Given the description of an element on the screen output the (x, y) to click on. 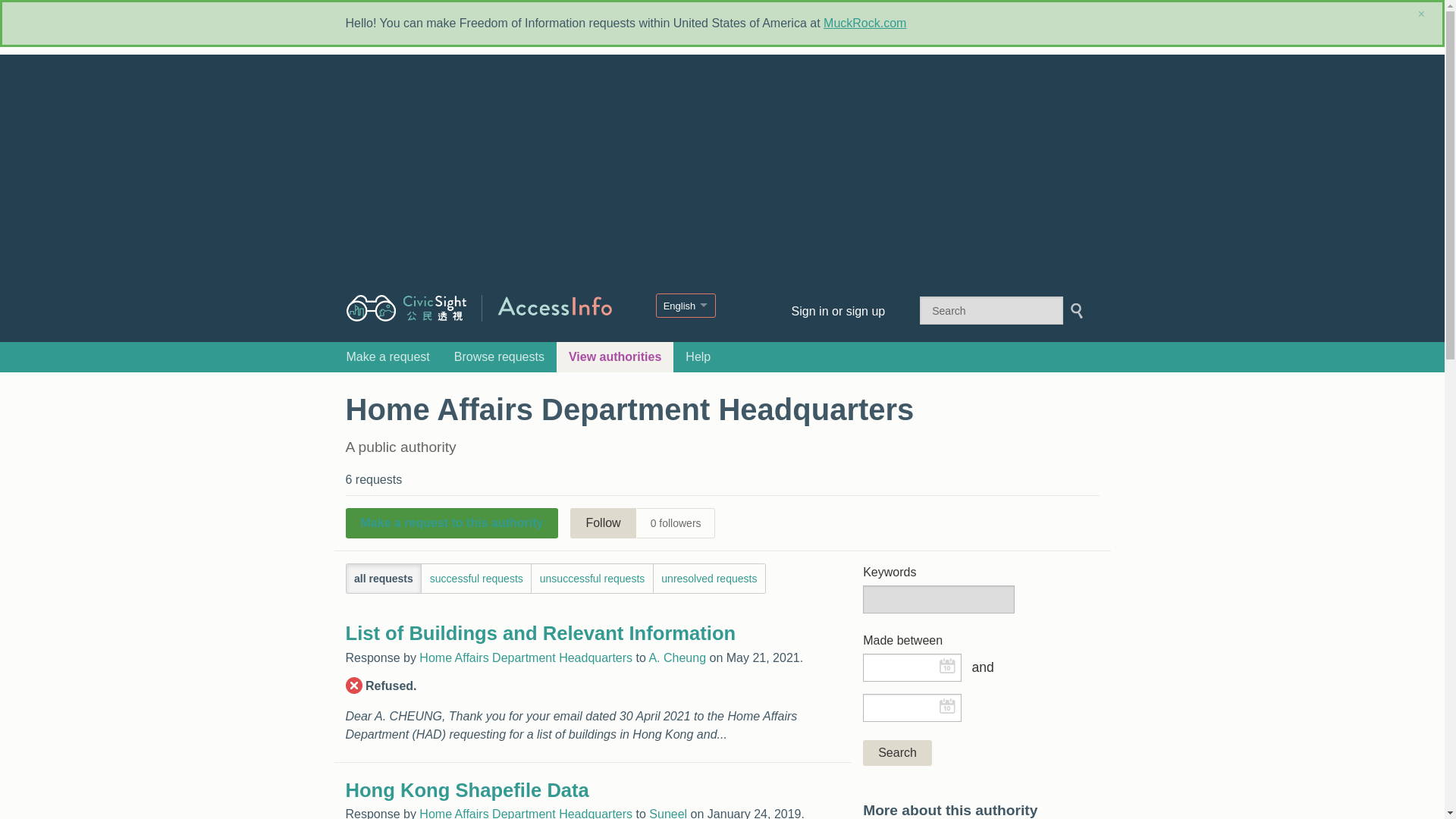
Sign in or sign up (830, 311)
Follow (602, 522)
List of Buildings and Relevant Information (541, 632)
accessinfo.hk (554, 305)
Search (897, 752)
successful requests (476, 578)
Help (697, 357)
Home Affairs Department Headquarters (525, 657)
Browse requests (499, 357)
Hong Kong Shapefile Data (467, 789)
unresolved requests (709, 578)
unsuccessful requests (592, 578)
Suneel (668, 813)
Home Affairs Department Headquarters (525, 813)
